Given the description of an element on the screen output the (x, y) to click on. 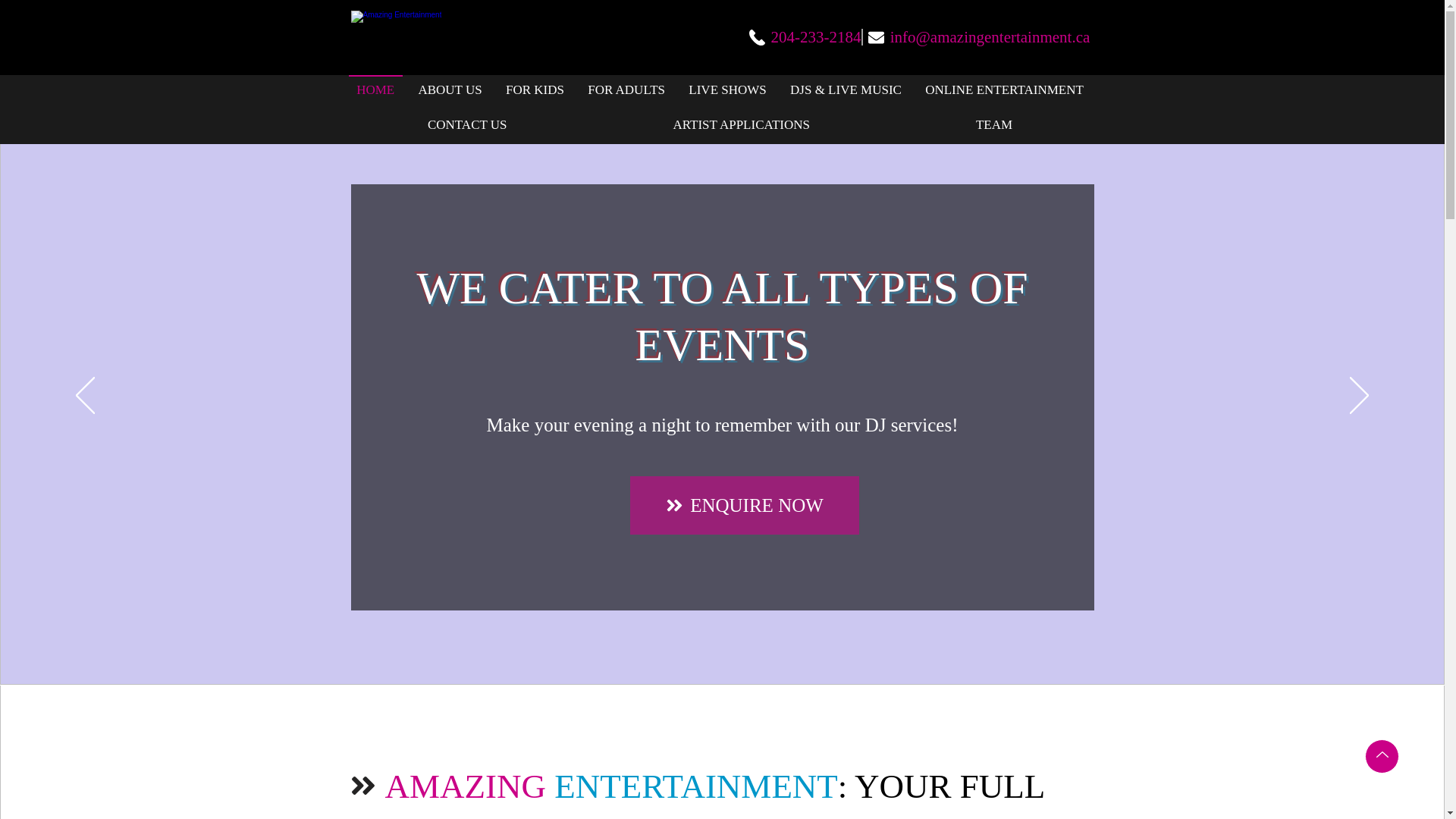
HOME (376, 89)
ABOUT US (449, 89)
204-233-2184 (805, 37)
